Given the description of an element on the screen output the (x, y) to click on. 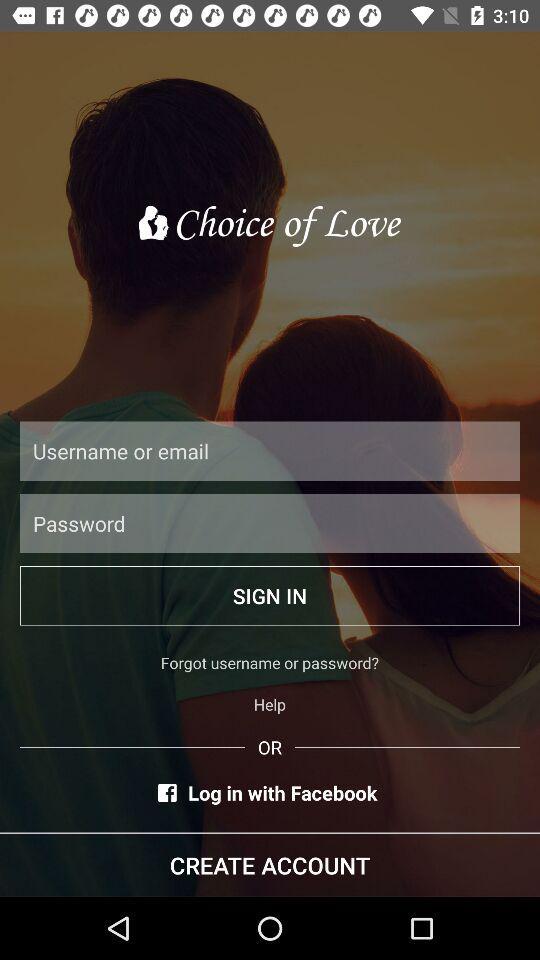
scroll until create account (270, 864)
